Given the description of an element on the screen output the (x, y) to click on. 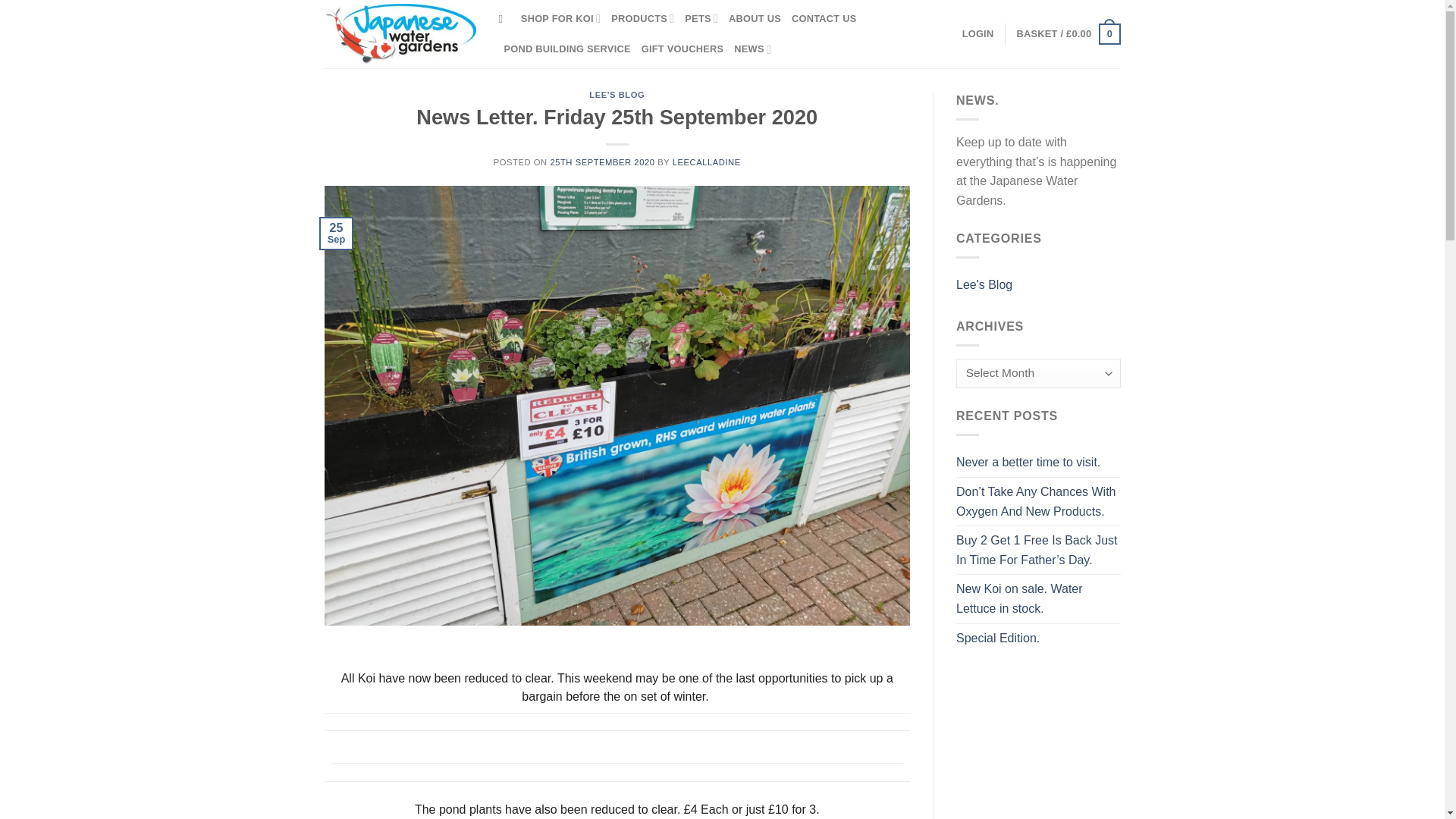
POND BUILDING SERVICE (566, 49)
Basket (1067, 34)
CONTACT US (824, 19)
SHOP FOR KOI (560, 19)
NEWS (752, 49)
ABOUT US (754, 19)
PRODUCTS (642, 19)
GIFT VOUCHERS (682, 49)
PETS (700, 19)
